Given the description of an element on the screen output the (x, y) to click on. 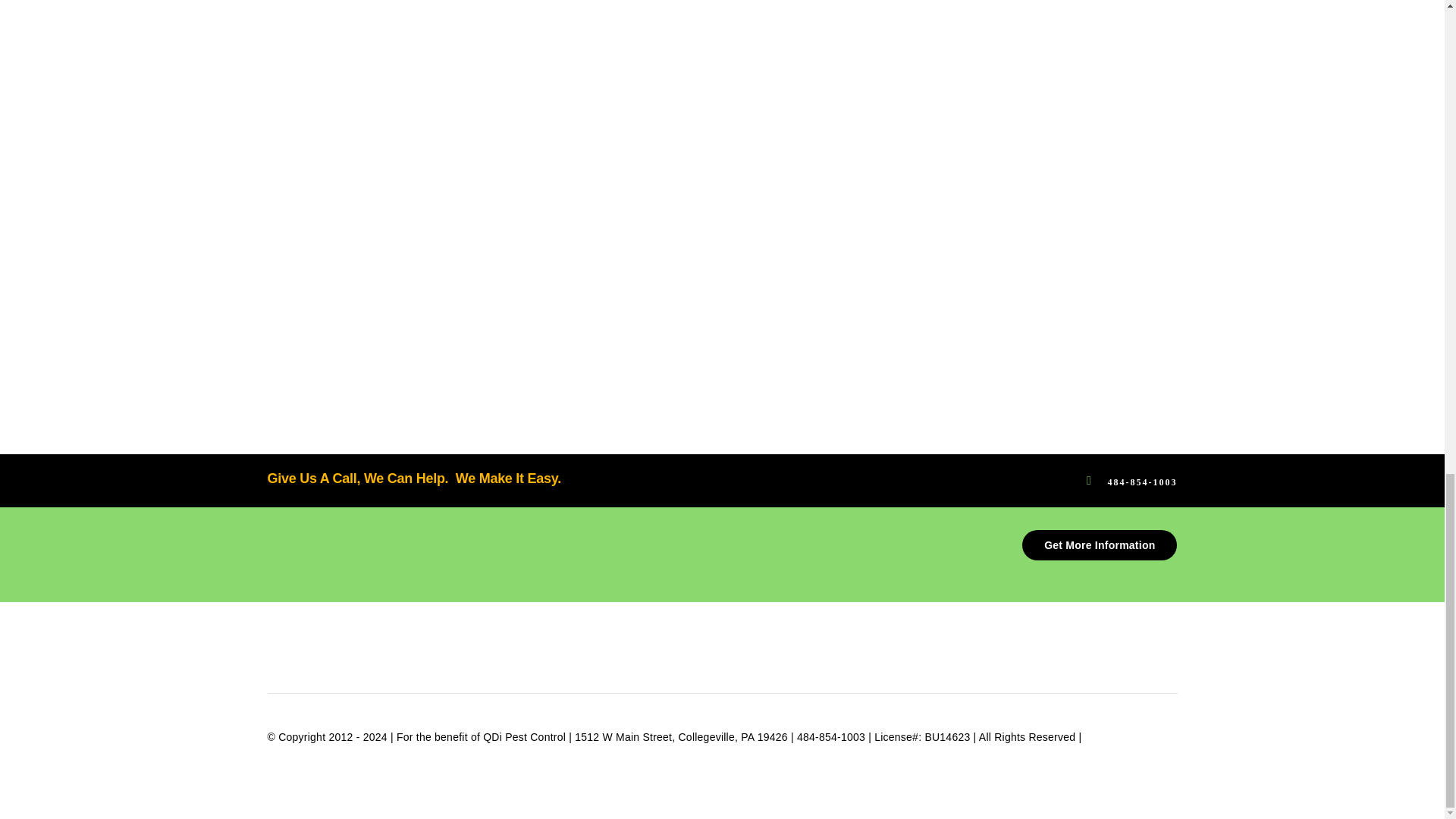
Get More Information (1099, 544)
484-854-1003 (1141, 481)
